Given the description of an element on the screen output the (x, y) to click on. 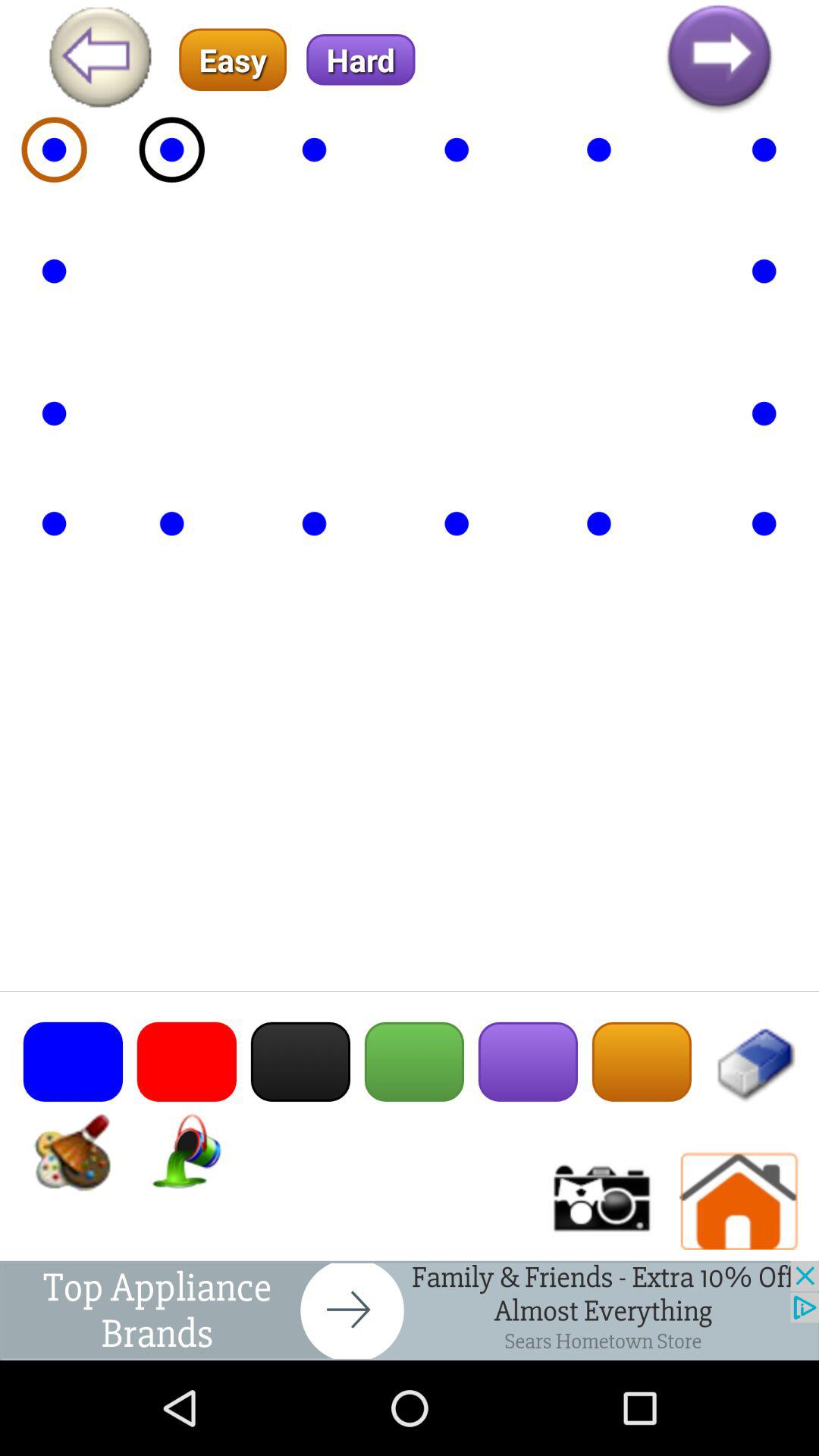
click photo/video (599, 1200)
